Given the description of an element on the screen output the (x, y) to click on. 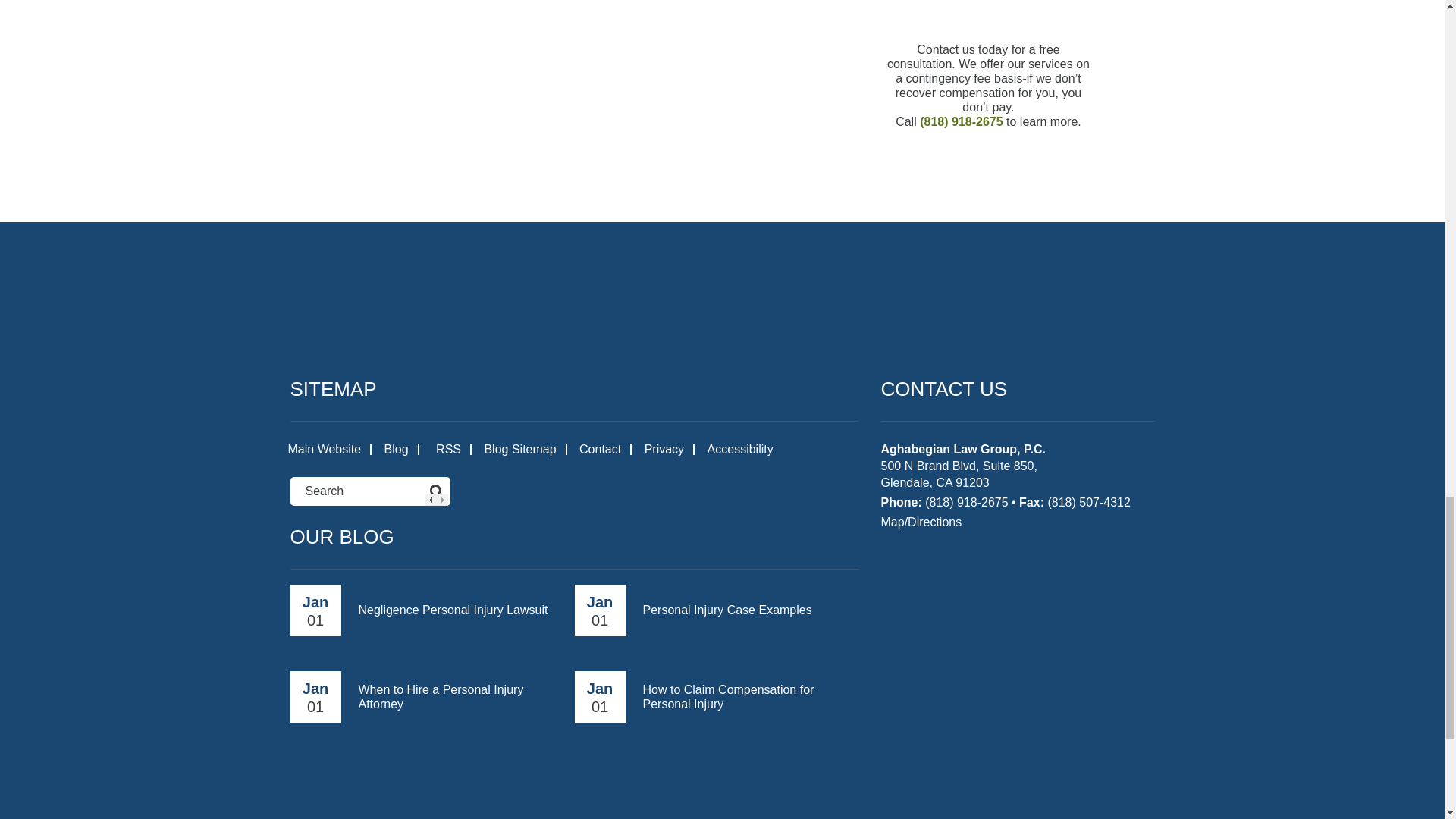
RSS (445, 449)
Main Website (324, 449)
Search (345, 491)
Search (345, 491)
Blog (396, 449)
SITEMAP (332, 388)
Blog Sitemap (519, 449)
Aghabegian Law Group, P.C. (721, 302)
